Given the description of an element on the screen output the (x, y) to click on. 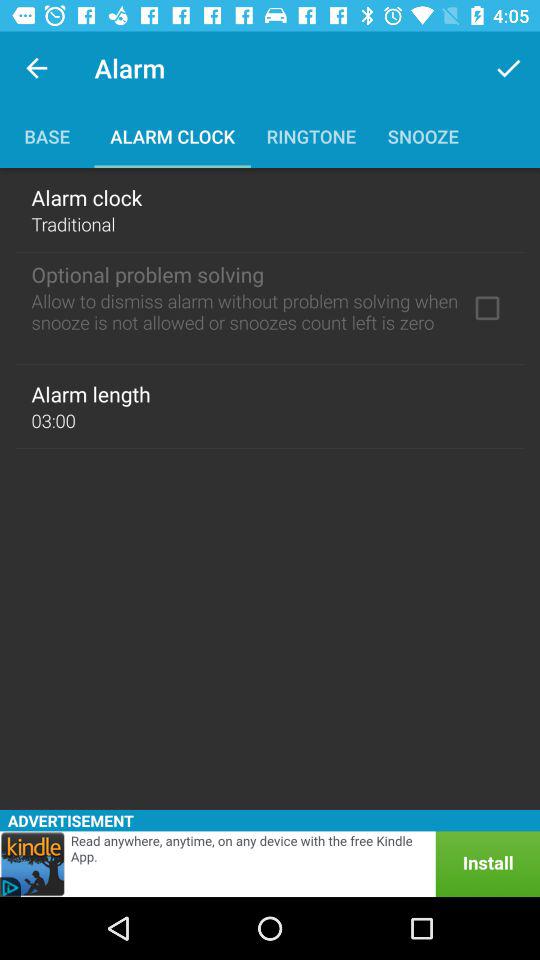
launch icon below advertisement (270, 863)
